Given the description of an element on the screen output the (x, y) to click on. 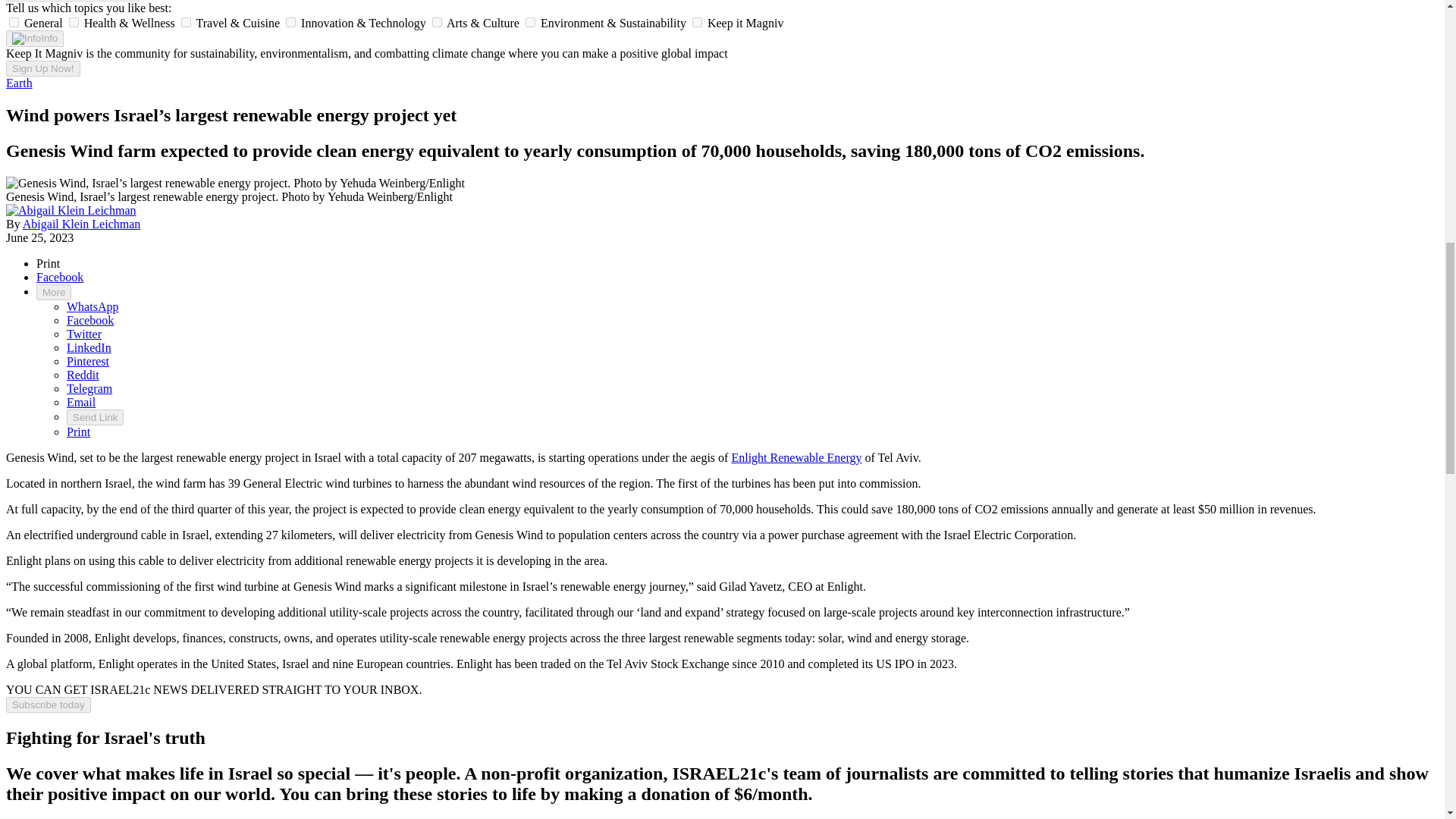
Info (34, 38)
6 (697, 22)
Abigail Klein Leichman (70, 210)
Abigail Klein Leichman (70, 210)
2 (185, 22)
5 (530, 22)
3 (290, 22)
Abigail Klein Leichman (82, 223)
0 (13, 22)
4 (437, 22)
1 (73, 22)
